Given the description of an element on the screen output the (x, y) to click on. 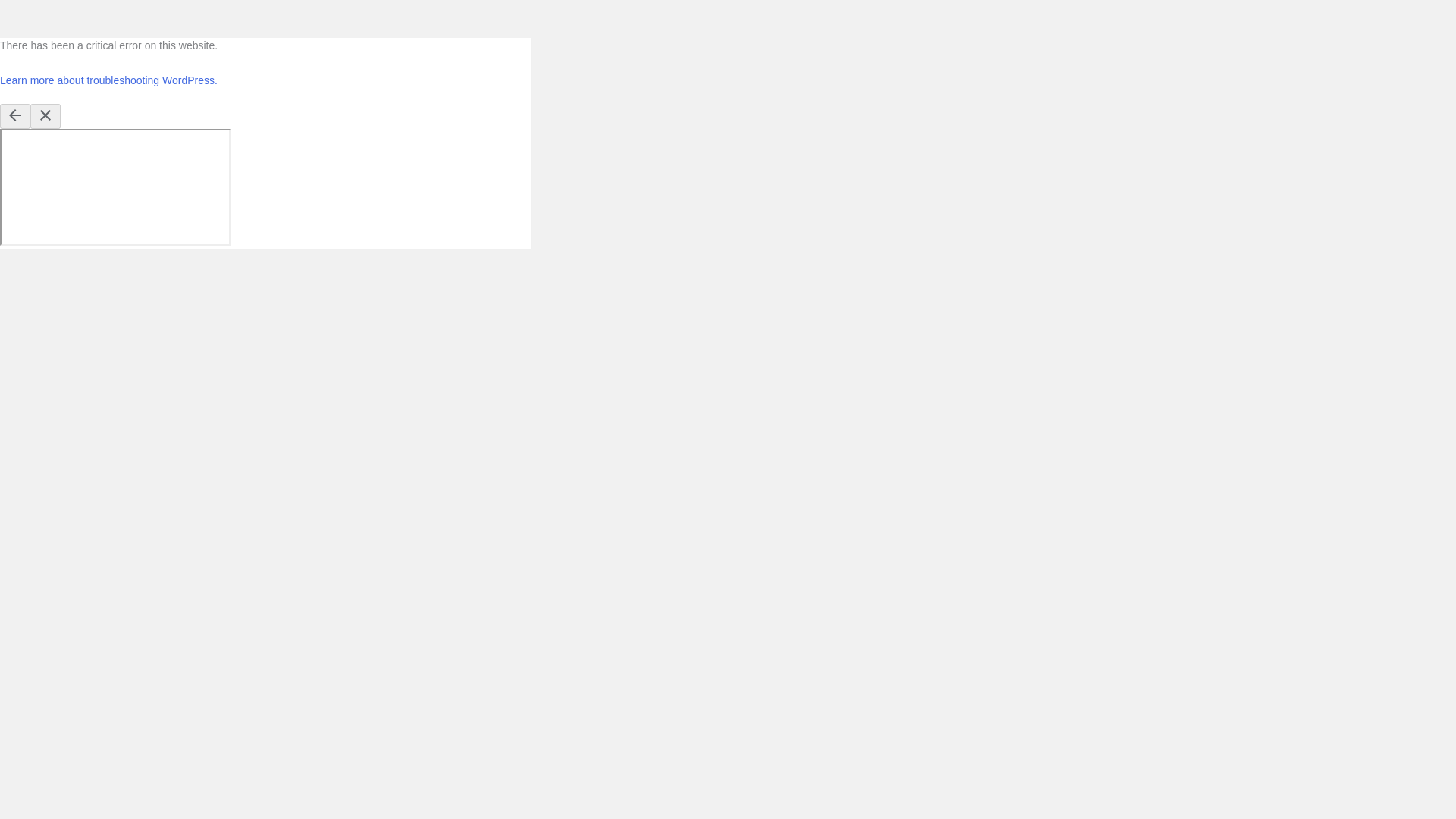
Learn more about troubleshooting WordPress. (108, 80)
